Given the description of an element on the screen output the (x, y) to click on. 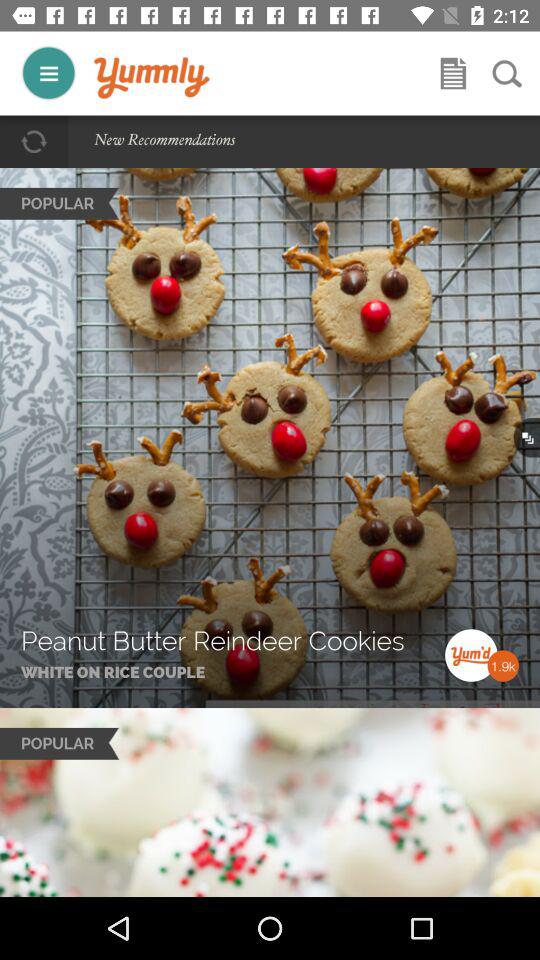
bookmark or share (453, 73)
